Given the description of an element on the screen output the (x, y) to click on. 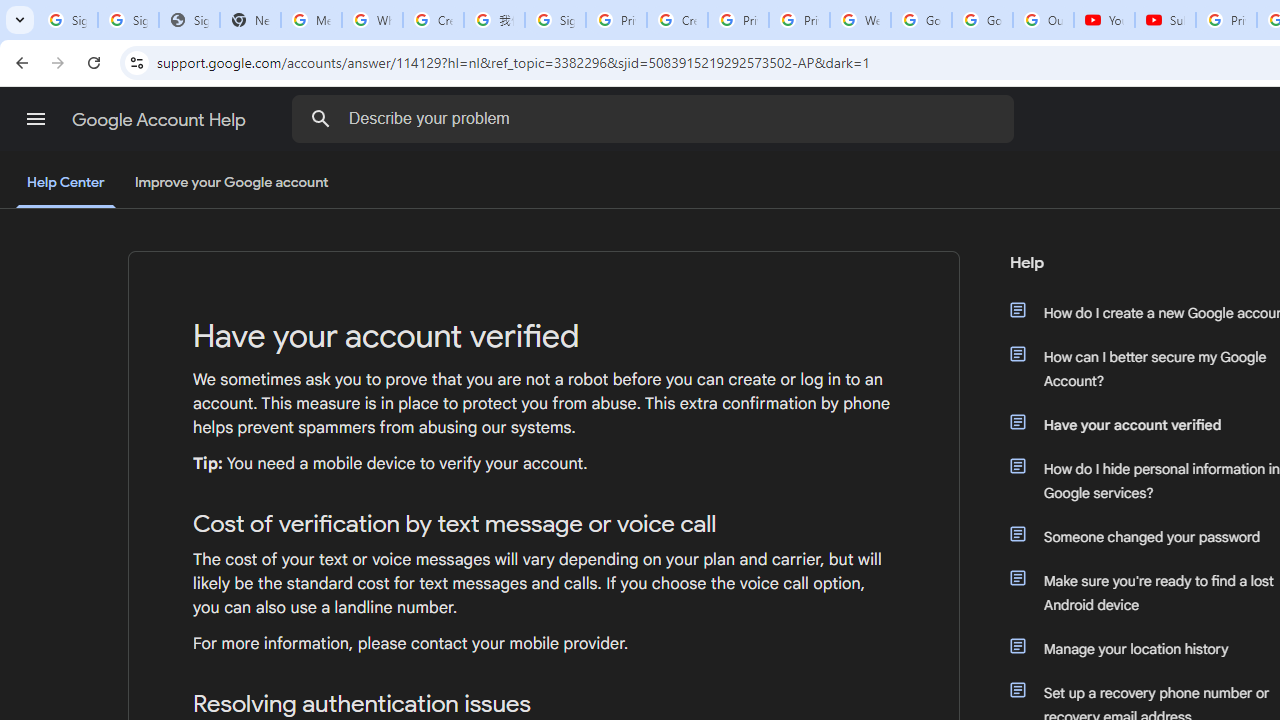
Search the Help Center (320, 118)
Sign in - Google Accounts (555, 20)
Create your Google Account (676, 20)
Sign in - Google Accounts (128, 20)
Google Account Help (160, 119)
Help Center (65, 183)
Google Account (982, 20)
Welcome to My Activity (859, 20)
